Given the description of an element on the screen output the (x, y) to click on. 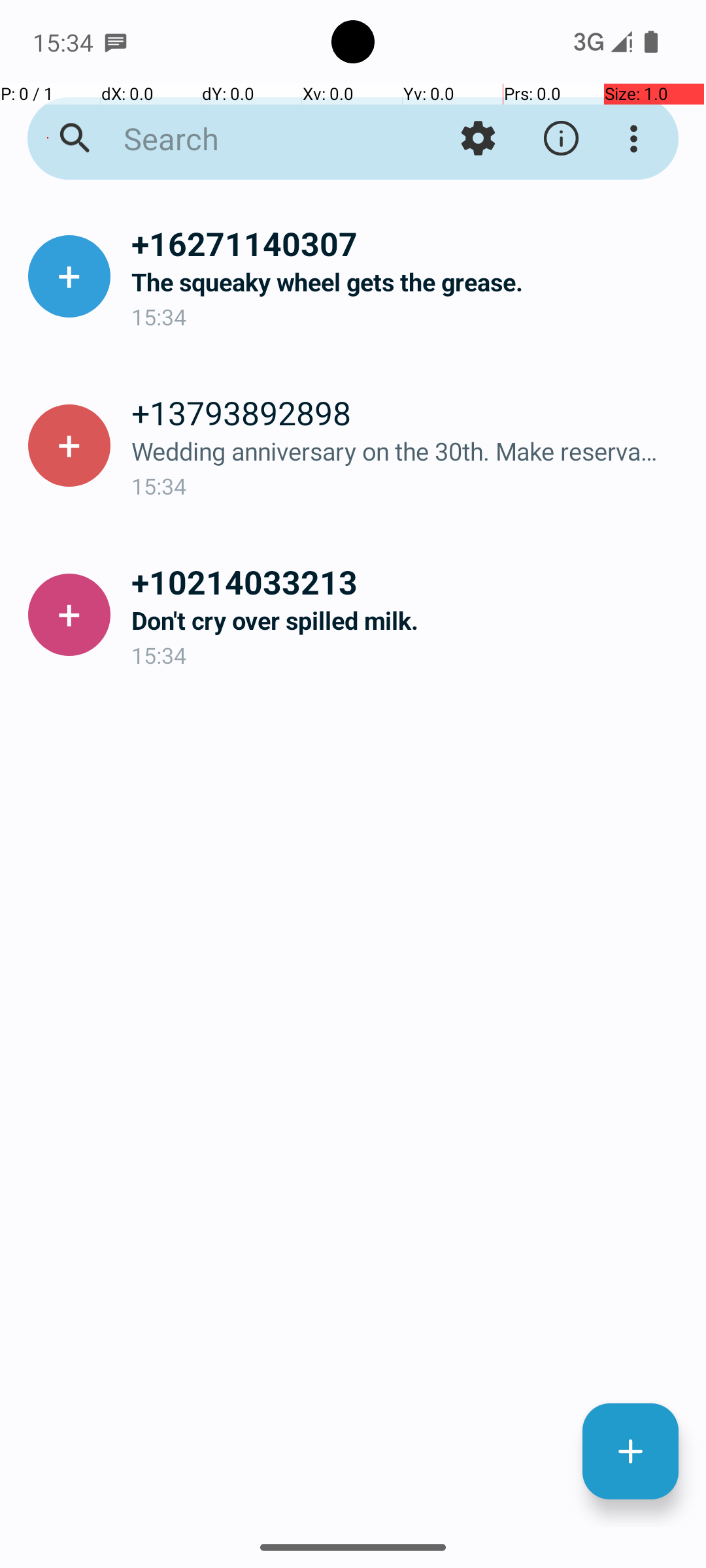
+16271140307 Element type: android.widget.TextView (408, 242)
The squeaky wheel gets the grease. Element type: android.widget.TextView (408, 281)
+13793892898 Element type: android.widget.TextView (408, 412)
Wedding anniversary on the 30th. Make reservations! Element type: android.widget.TextView (408, 450)
+10214033213 Element type: android.widget.TextView (408, 581)
Don't cry over spilled milk. Element type: android.widget.TextView (408, 620)
